Given the description of an element on the screen output the (x, y) to click on. 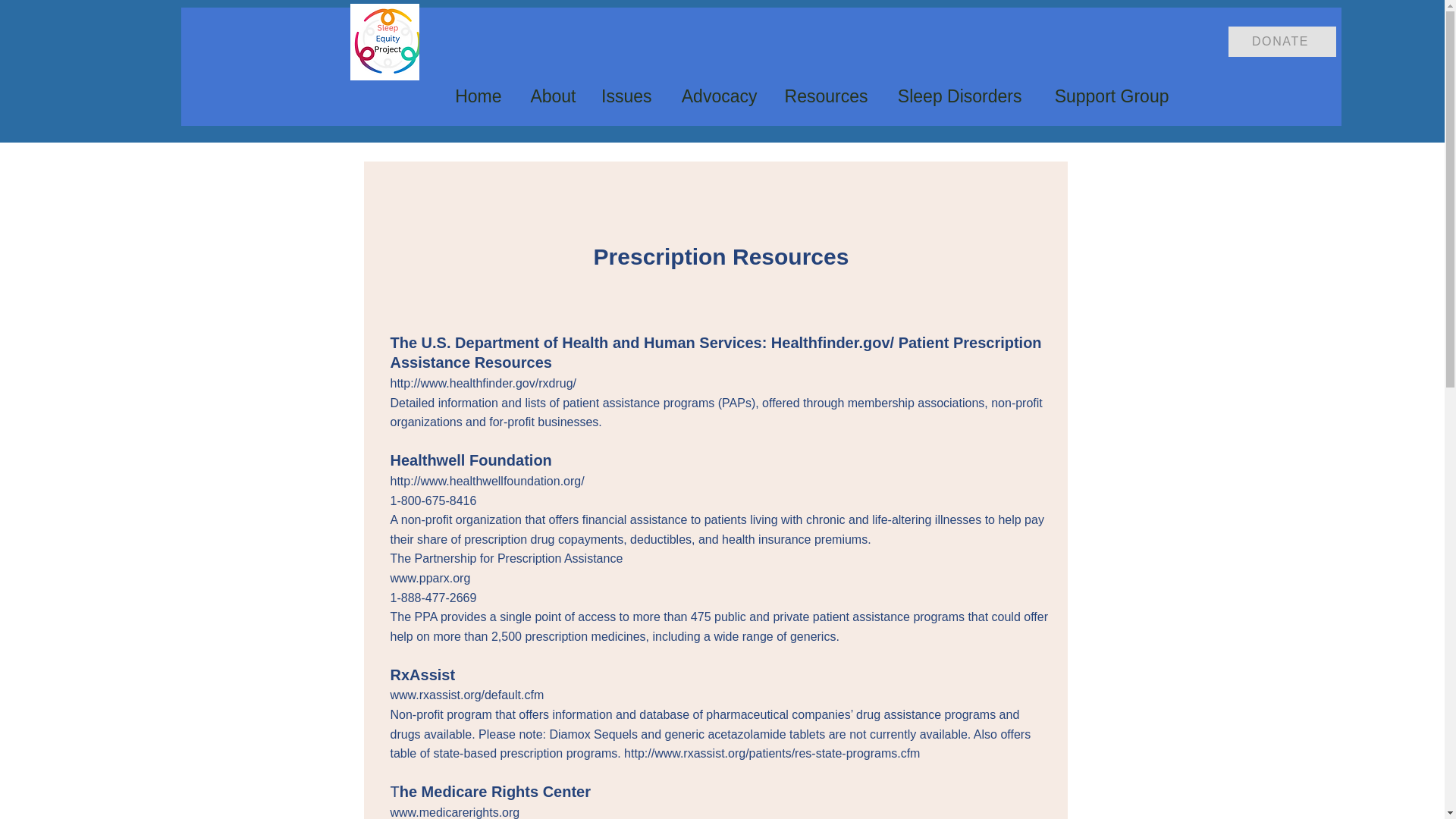
Issues (624, 96)
Home (477, 96)
Sleep Disorders (956, 96)
About (549, 96)
Resources (823, 96)
Advocacy (715, 96)
Support Group (1105, 96)
DONATE (1282, 41)
www.medicarerights.org (454, 812)
